Given the description of an element on the screen output the (x, y) to click on. 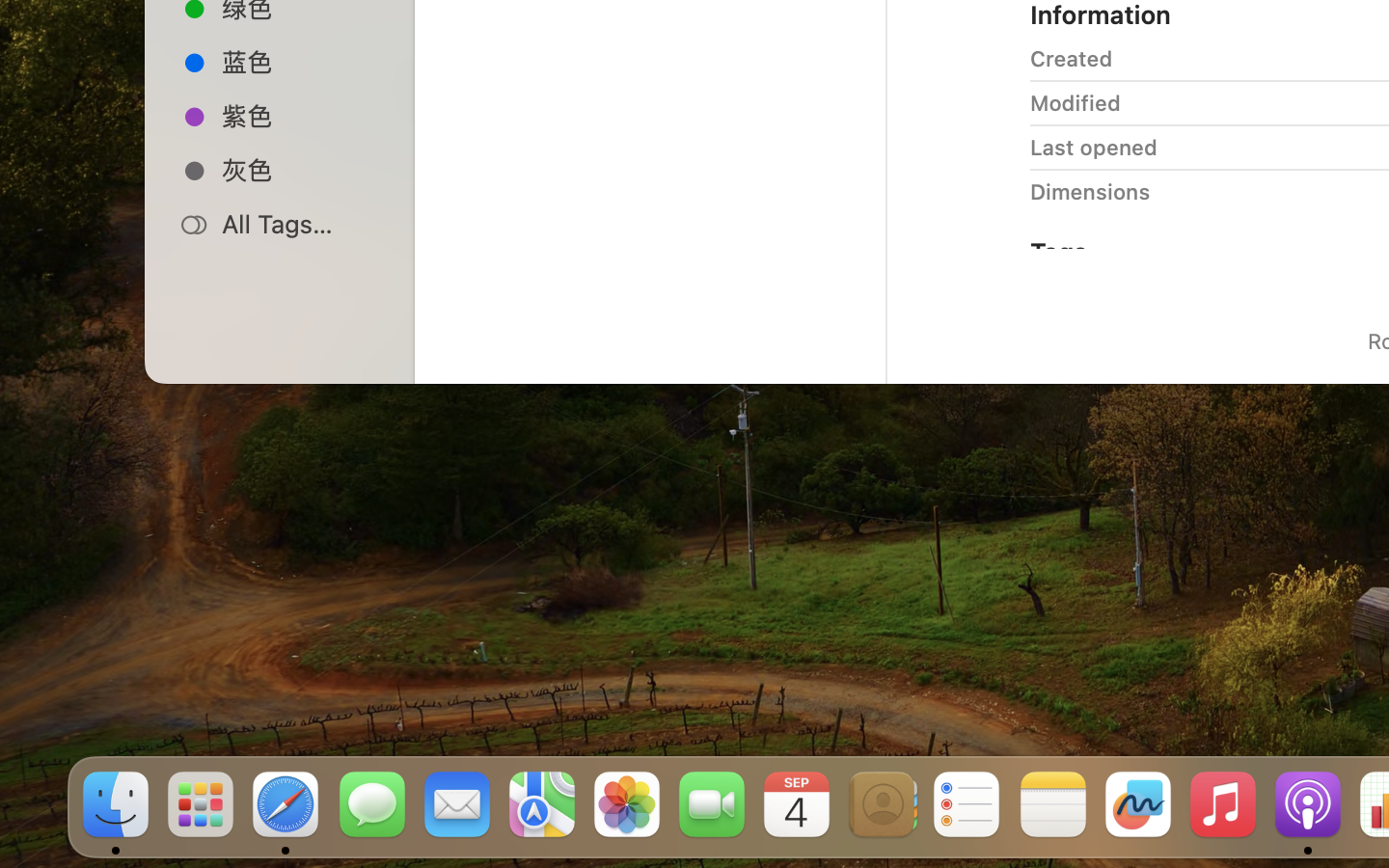
紫色 Element type: AXStaticText (299, 115)
Dimensions Element type: AXStaticText (1089, 190)
灰色 Element type: AXStaticText (299, 169)
Tags Element type: AXStaticText (1058, 250)
蓝色 Element type: AXStaticText (299, 61)
